Given the description of an element on the screen output the (x, y) to click on. 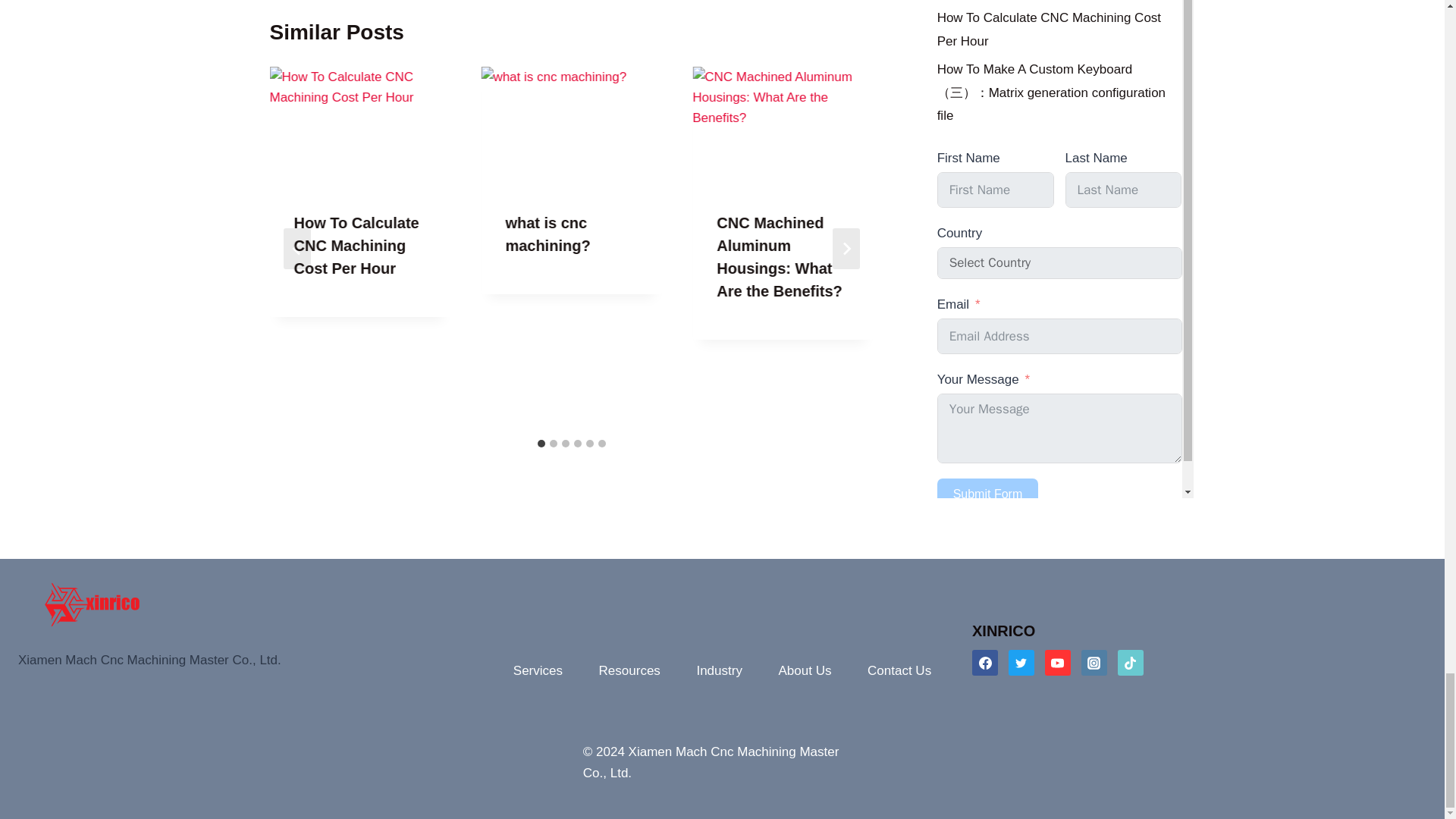
xinrico logo (85, 604)
